Given the description of an element on the screen output the (x, y) to click on. 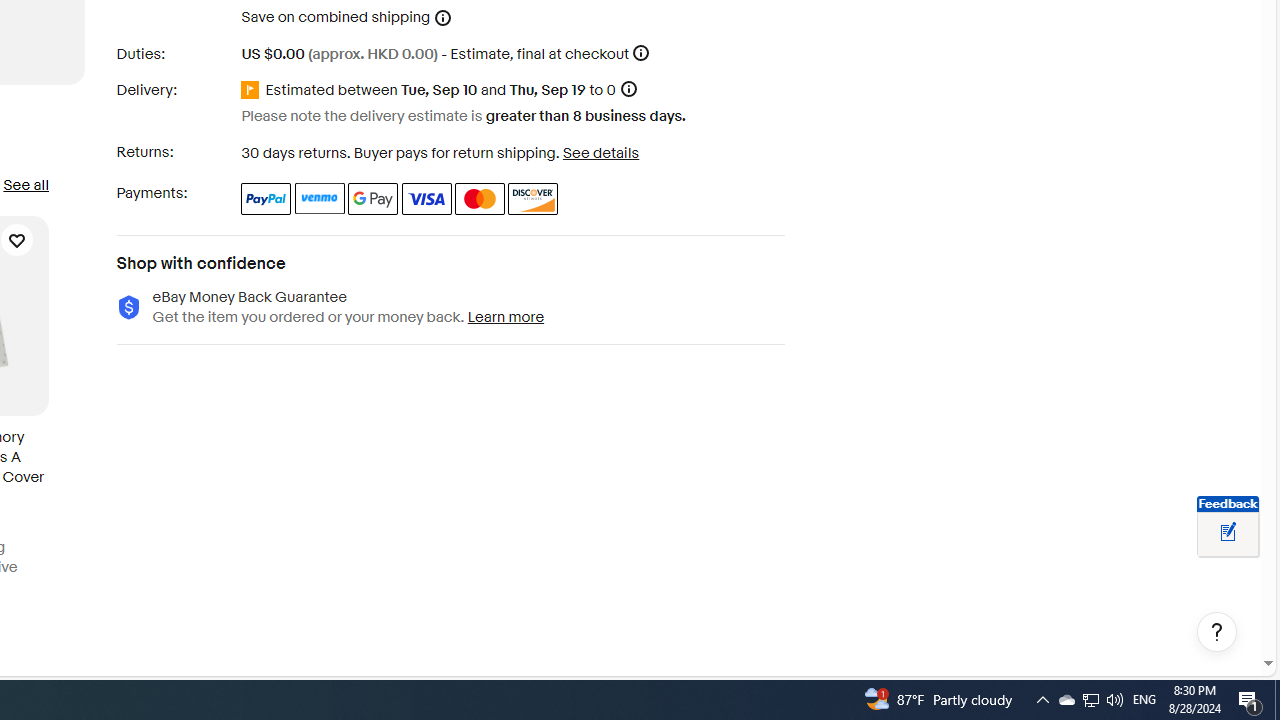
Master Card (479, 198)
More information on Combined Shipping. Opens a layer. (443, 17)
Discover (533, 198)
See all (25, 184)
Delivery alert flag (253, 89)
Venmo (319, 198)
Help, opens dialogs (1217, 632)
Leave feedback about your eBay ViewItem experience (1227, 533)
More information (641, 52)
Google Pay (373, 198)
Visa (425, 198)
Information - Estimated delivery date - opens a layer (628, 89)
